Given the description of an element on the screen output the (x, y) to click on. 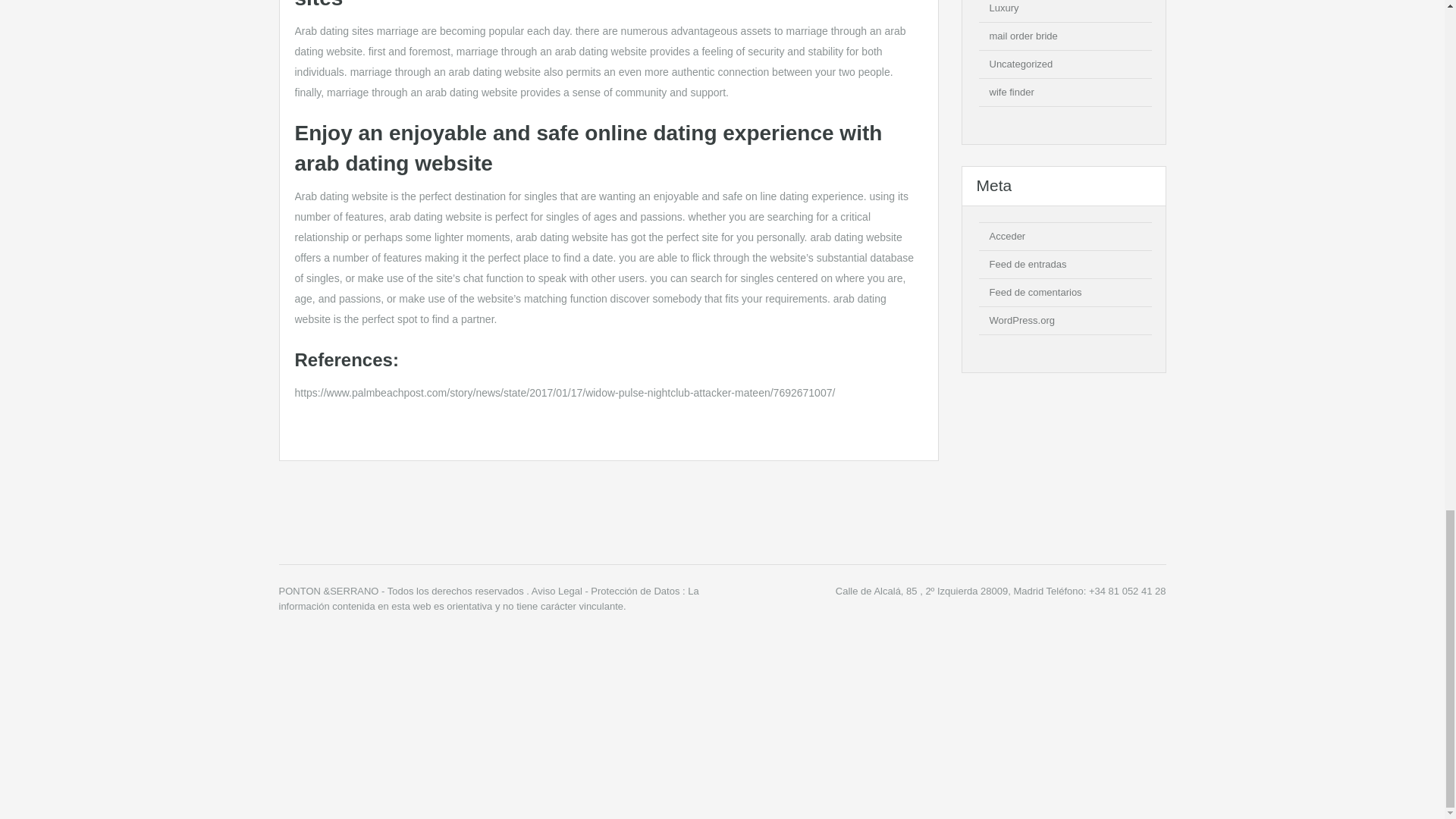
mail order bride (1022, 35)
Luxury (1002, 7)
Uncategorized (1020, 63)
